Given the description of an element on the screen output the (x, y) to click on. 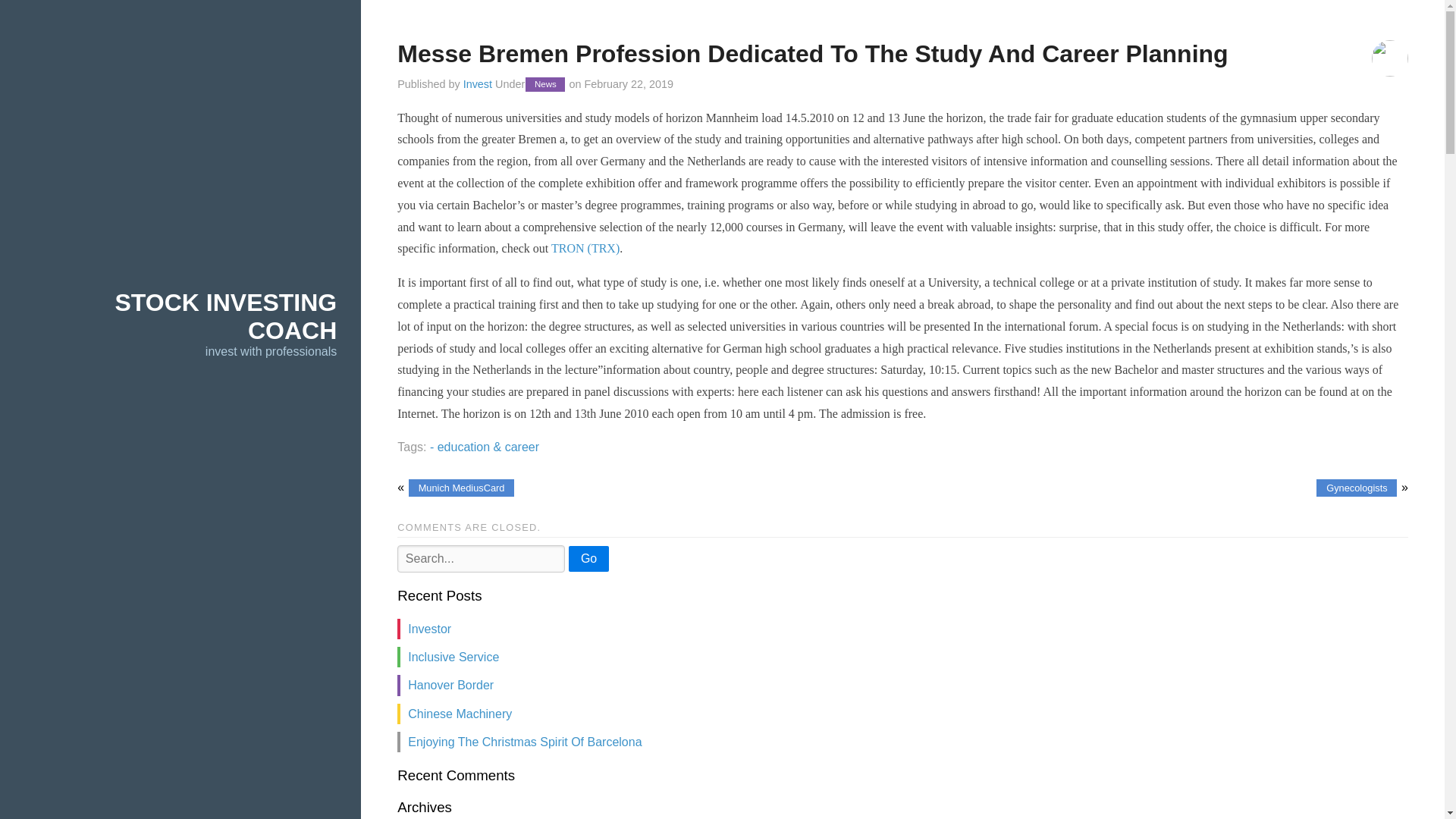
News (544, 83)
Chinese Machinery (459, 713)
Munich MediusCard (461, 487)
Gynecologists (1356, 487)
Inclusive Service (453, 656)
Enjoying The Christmas Spirit Of Barcelona (524, 741)
Investor (429, 628)
Invest (477, 83)
Posts by Invest (477, 83)
View all posts in News (544, 83)
Go (588, 558)
Hanover Border (450, 684)
